Given the description of an element on the screen output the (x, y) to click on. 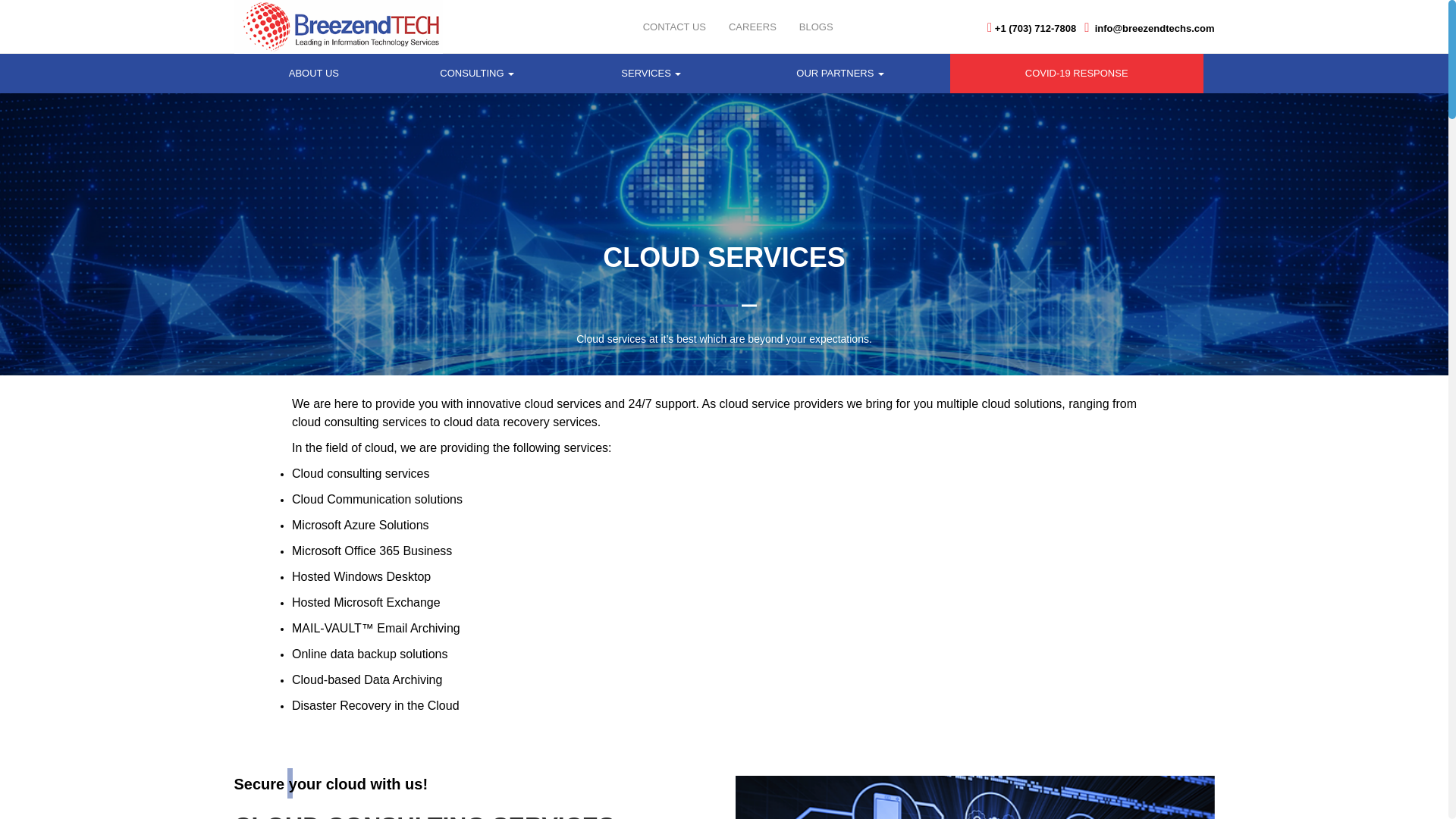
ABOUT US (314, 73)
CAREERS (752, 27)
BLOGS (815, 27)
CONSULTING (476, 73)
SERVICES (651, 73)
CONTACT US (674, 27)
